Given the description of an element on the screen output the (x, y) to click on. 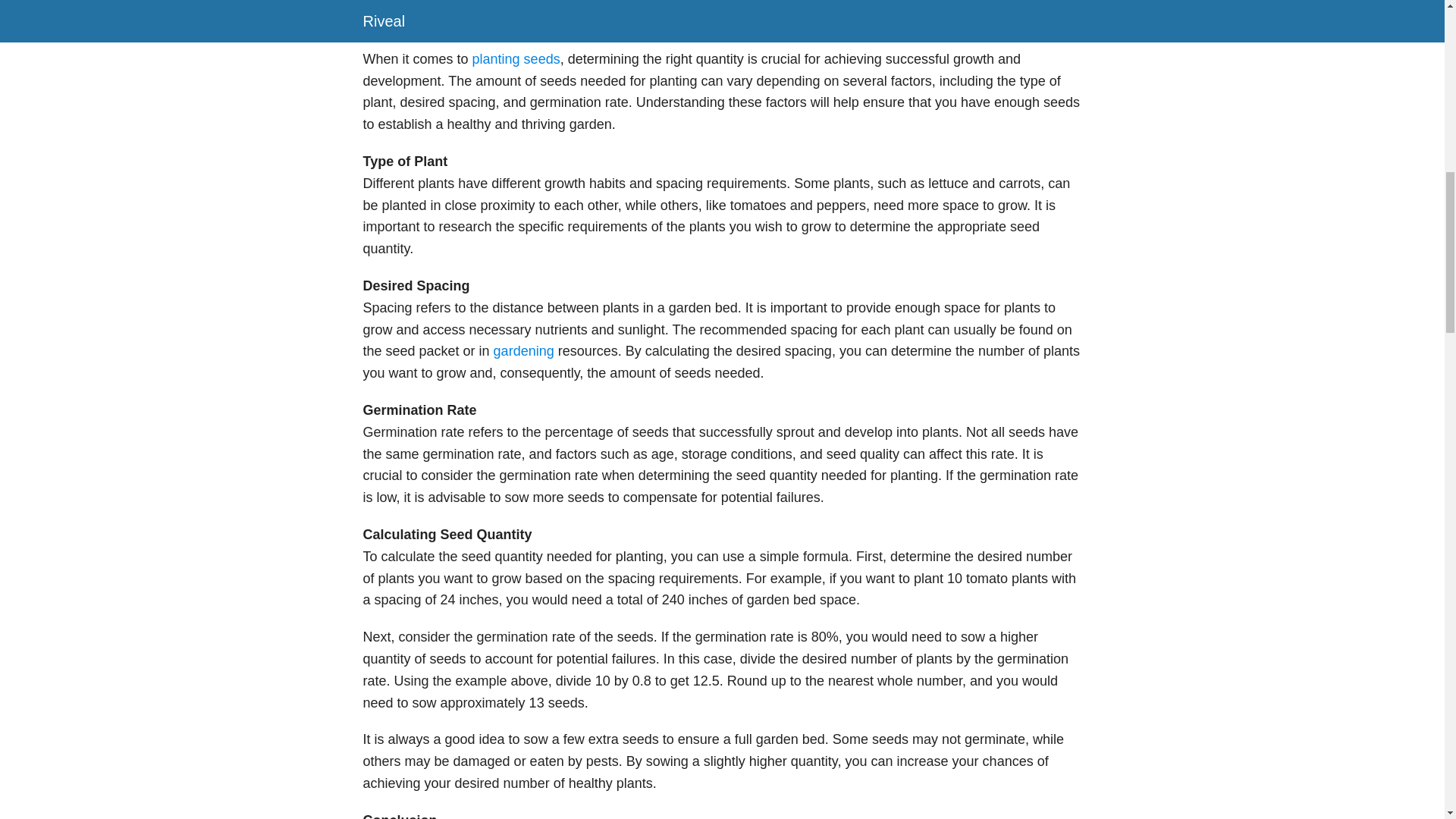
planting seeds (515, 58)
gardening (523, 350)
